Given the description of an element on the screen output the (x, y) to click on. 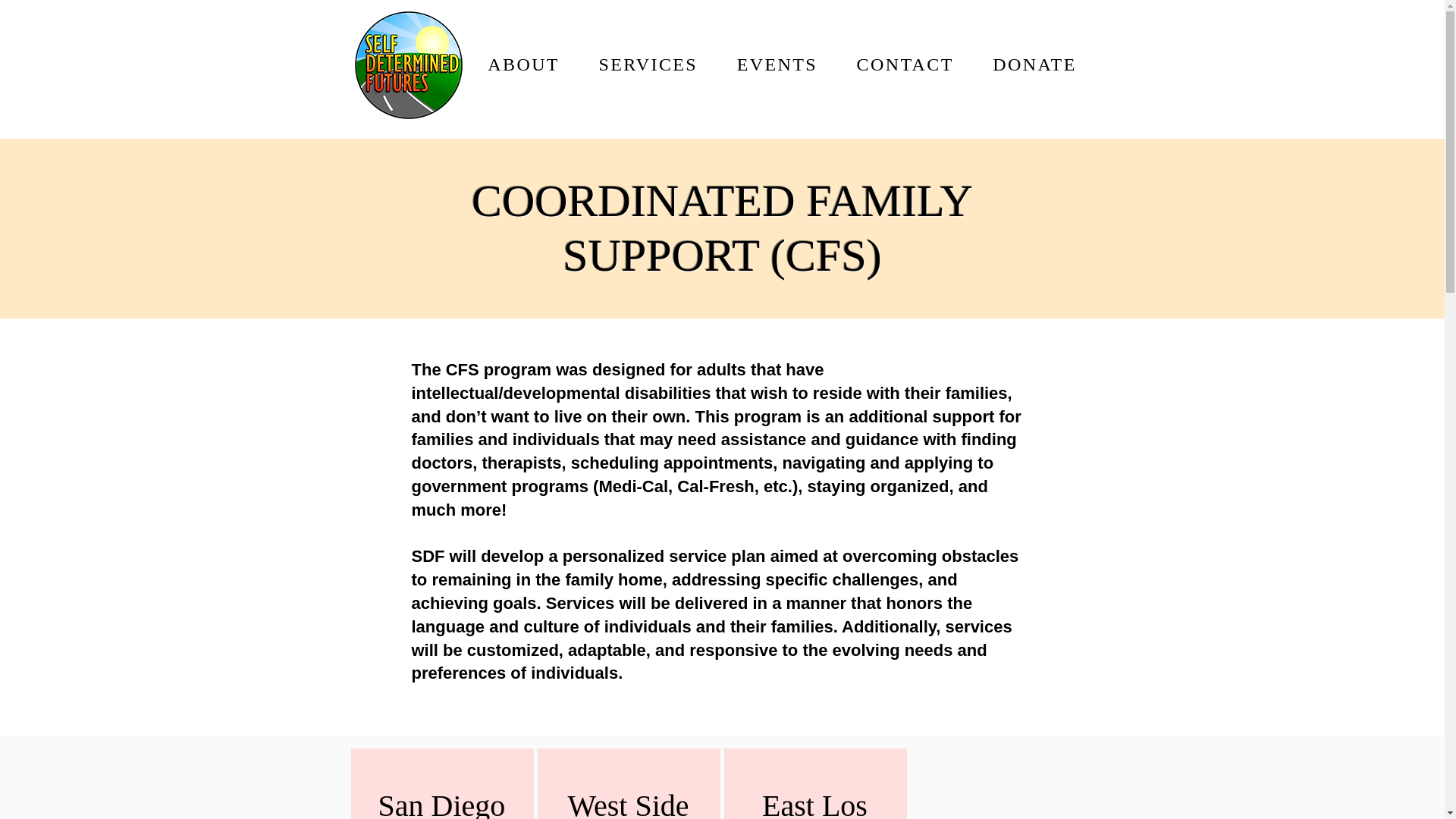
ABOUT (523, 65)
SERVICES (648, 65)
EVENTS (777, 65)
DONATE (1034, 65)
CONTACT (905, 65)
